Given the description of an element on the screen output the (x, y) to click on. 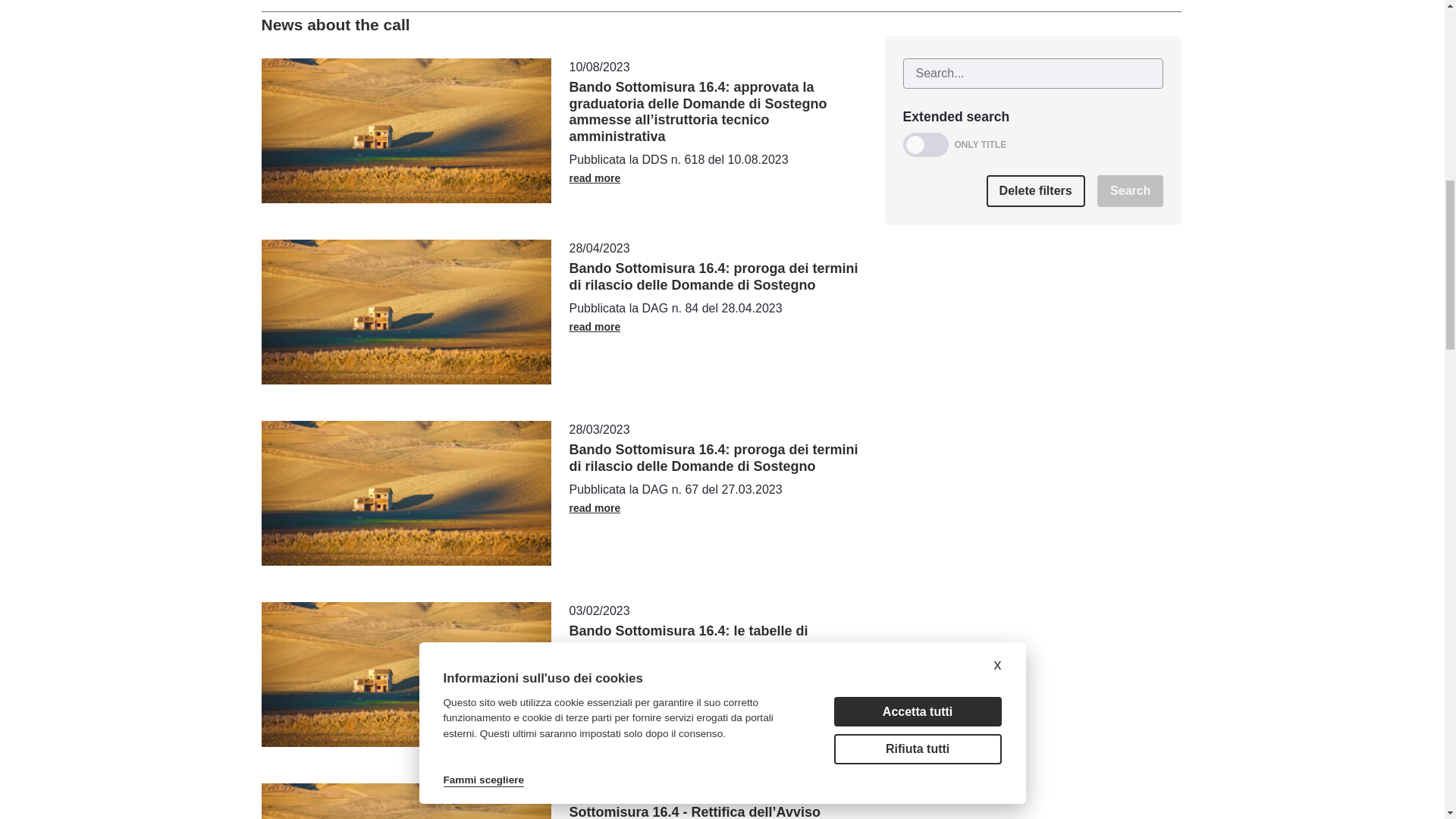
Search Content (1032, 73)
